Given the description of an element on the screen output the (x, y) to click on. 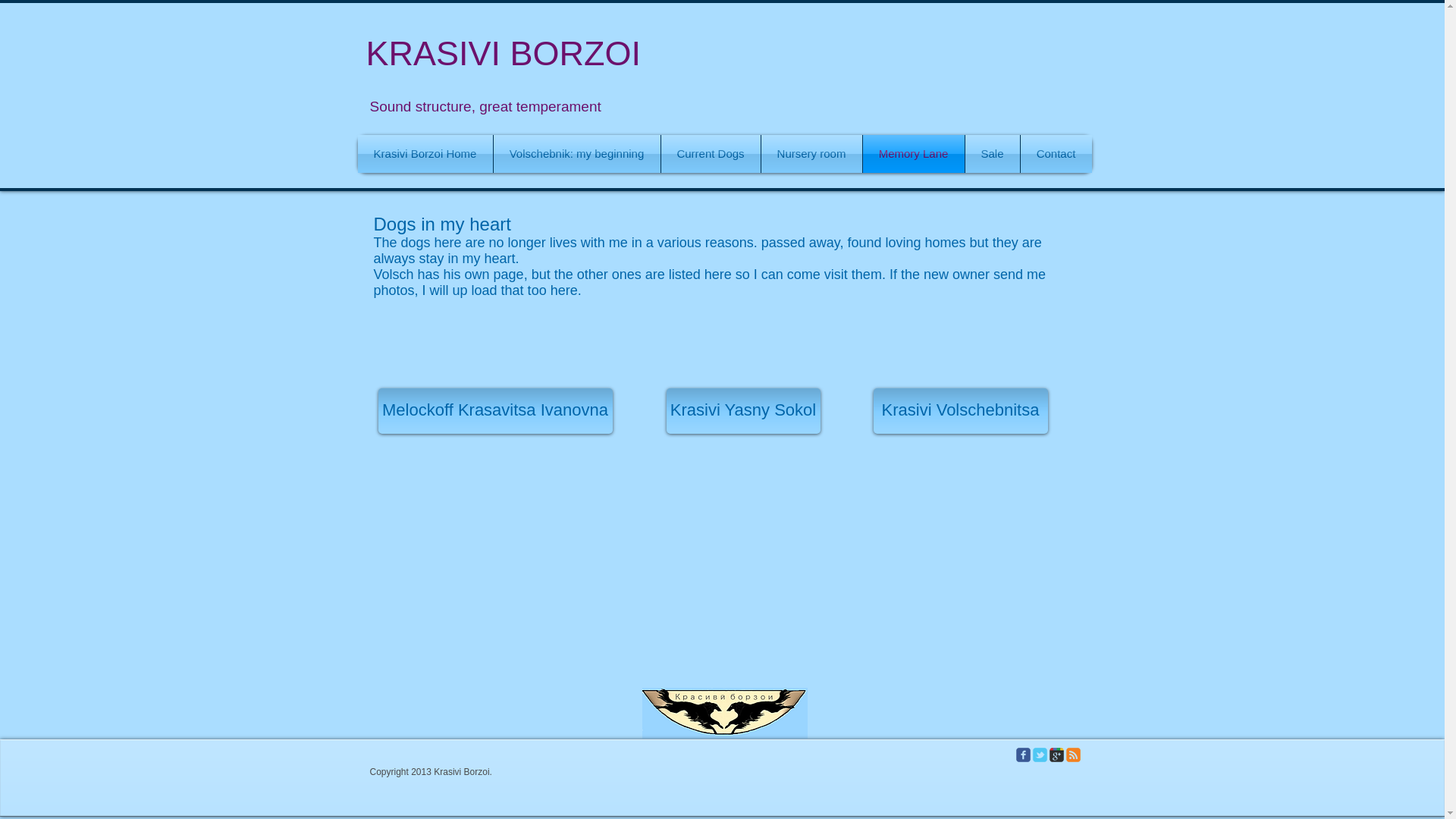
Krasivi Volschebnitsa (960, 411)
Memory Lane (913, 153)
Krasivi Yasny Sokol (742, 411)
Krasivi Borzoi Home (425, 153)
Sale (991, 153)
Current Dogs (710, 153)
Volschebnik: my beginning (576, 153)
Melockoff Krasavitsa Ivanovna (494, 411)
Nursery room (811, 153)
Contact (1056, 153)
